Given the description of an element on the screen output the (x, y) to click on. 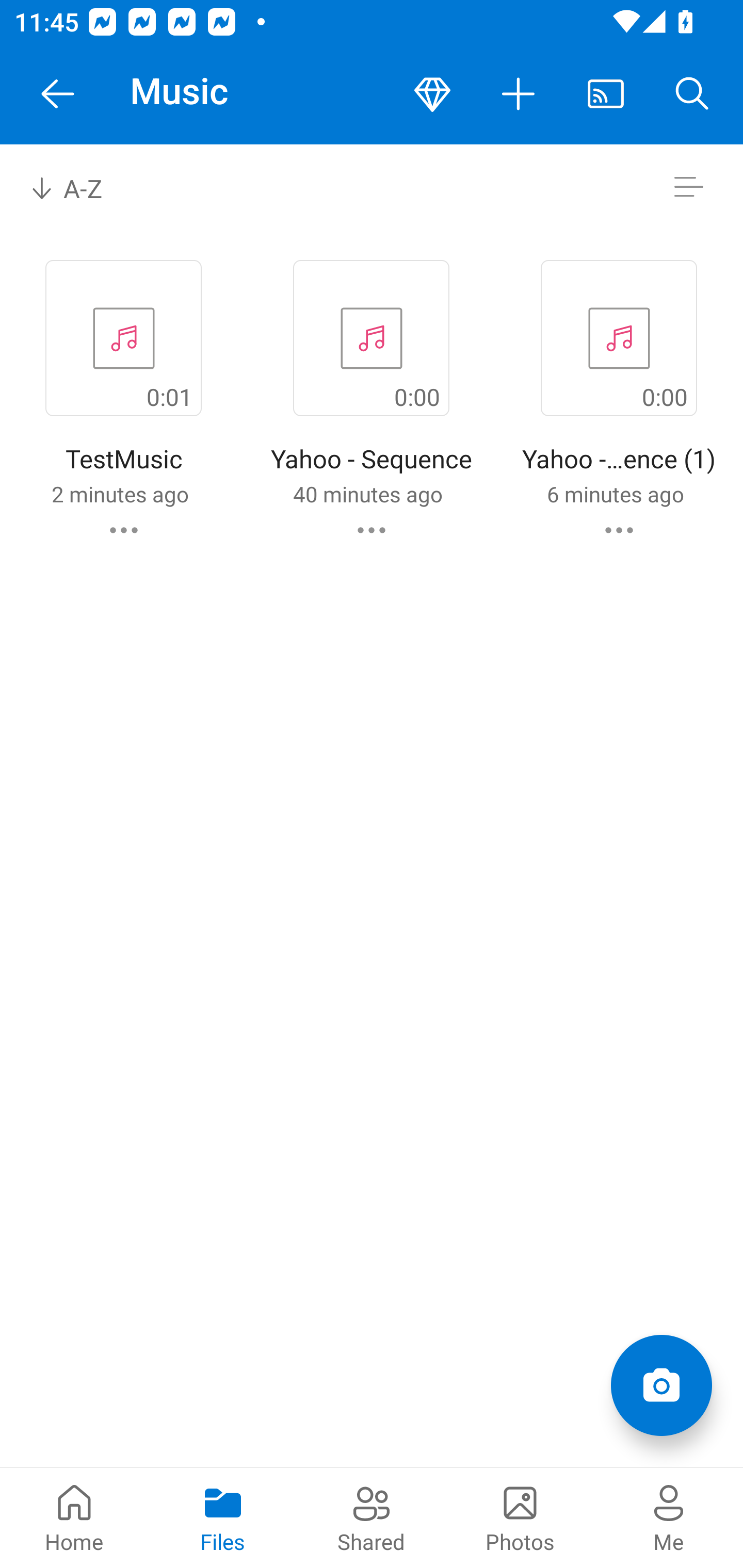
Navigate Up (57, 93)
Cast. Disconnected (605, 93)
Premium button (432, 93)
More actions button (518, 93)
Search button (692, 93)
A-Z Sort by combo box, sort by name, A to Z (80, 187)
Switch to list view (688, 187)
2 minutes ago (119, 493)
40 minutes ago (367, 493)
6 minutes ago (615, 493)
TestMusic commands (123, 529)
Yahoo - Sequence commands (371, 529)
Yahoo - Sequence (1) commands (618, 529)
Add items Scan (660, 1385)
Home pivot Home (74, 1517)
Shared pivot Shared (371, 1517)
Photos pivot Photos (519, 1517)
Me pivot Me (668, 1517)
